Given the description of an element on the screen output the (x, y) to click on. 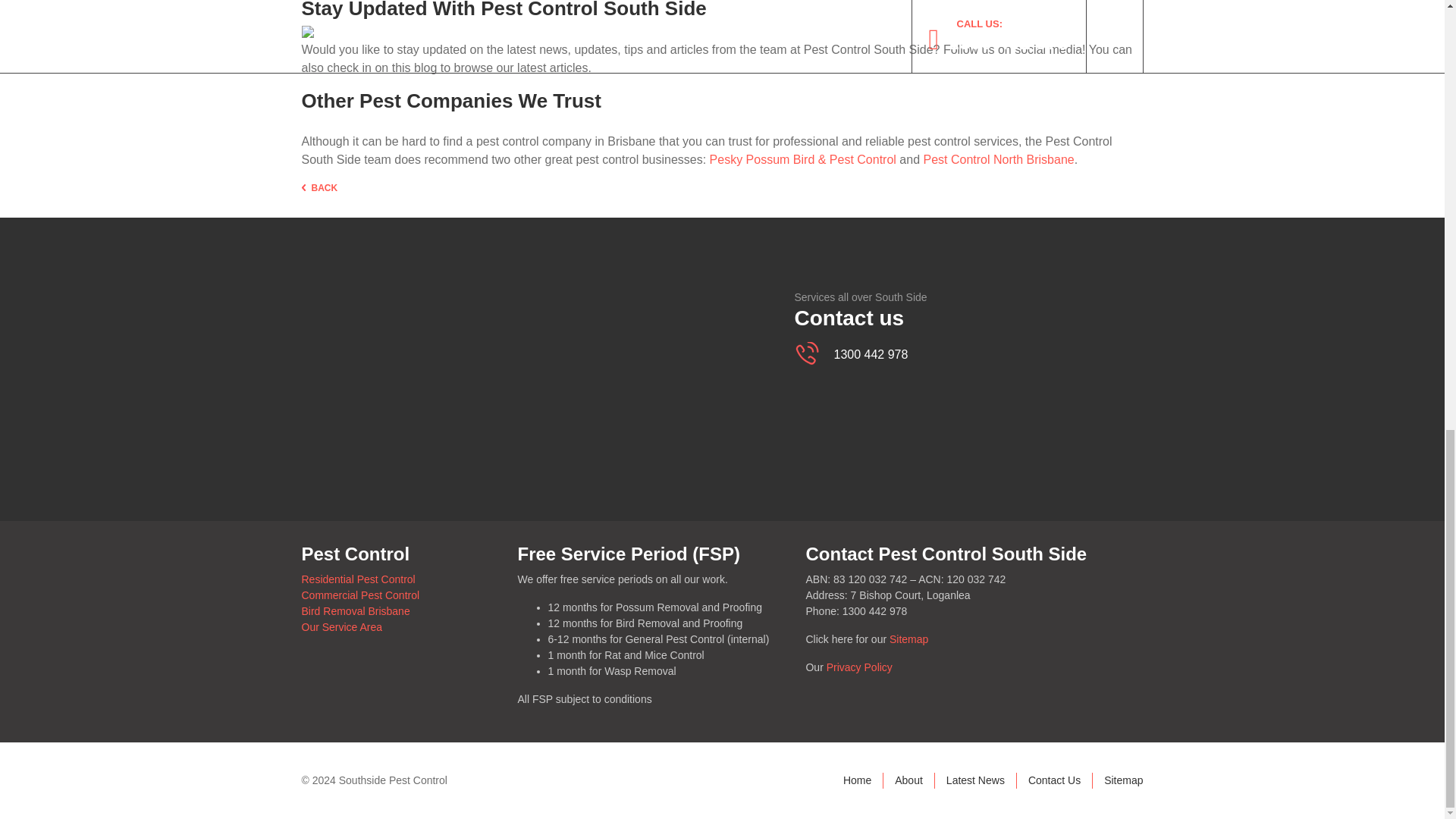
Commercial Pest Control (360, 594)
Our Service Area (341, 626)
BACK (319, 187)
Sitemap (908, 639)
1300 442 978 (863, 354)
Bird Removal Brisbane (355, 611)
Residential Pest Control (357, 579)
Pest Control North Brisbane (998, 159)
